Given the description of an element on the screen output the (x, y) to click on. 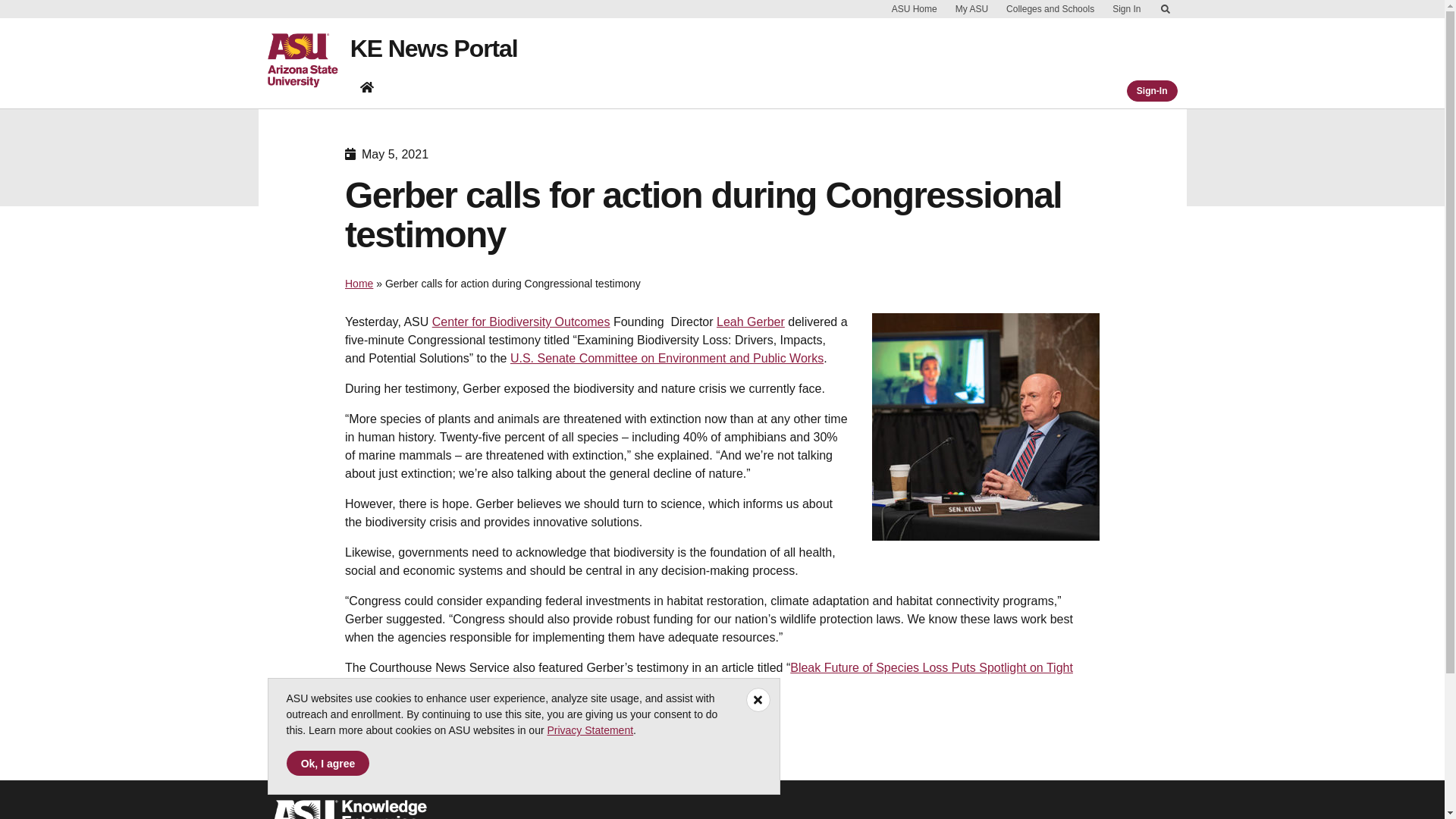
Skip to Content (1164, 8)
KE News Portal home (366, 87)
Center for Biodiversity Outcomes (521, 321)
Colleges and Schools (1050, 8)
Home (358, 283)
U.S. Senate Committee on Environment and Public Works (667, 358)
Ok, I agree (327, 763)
Leah Gerber (750, 321)
KE News Portal home (366, 87)
Sign In (1126, 8)
